Given the description of an element on the screen output the (x, y) to click on. 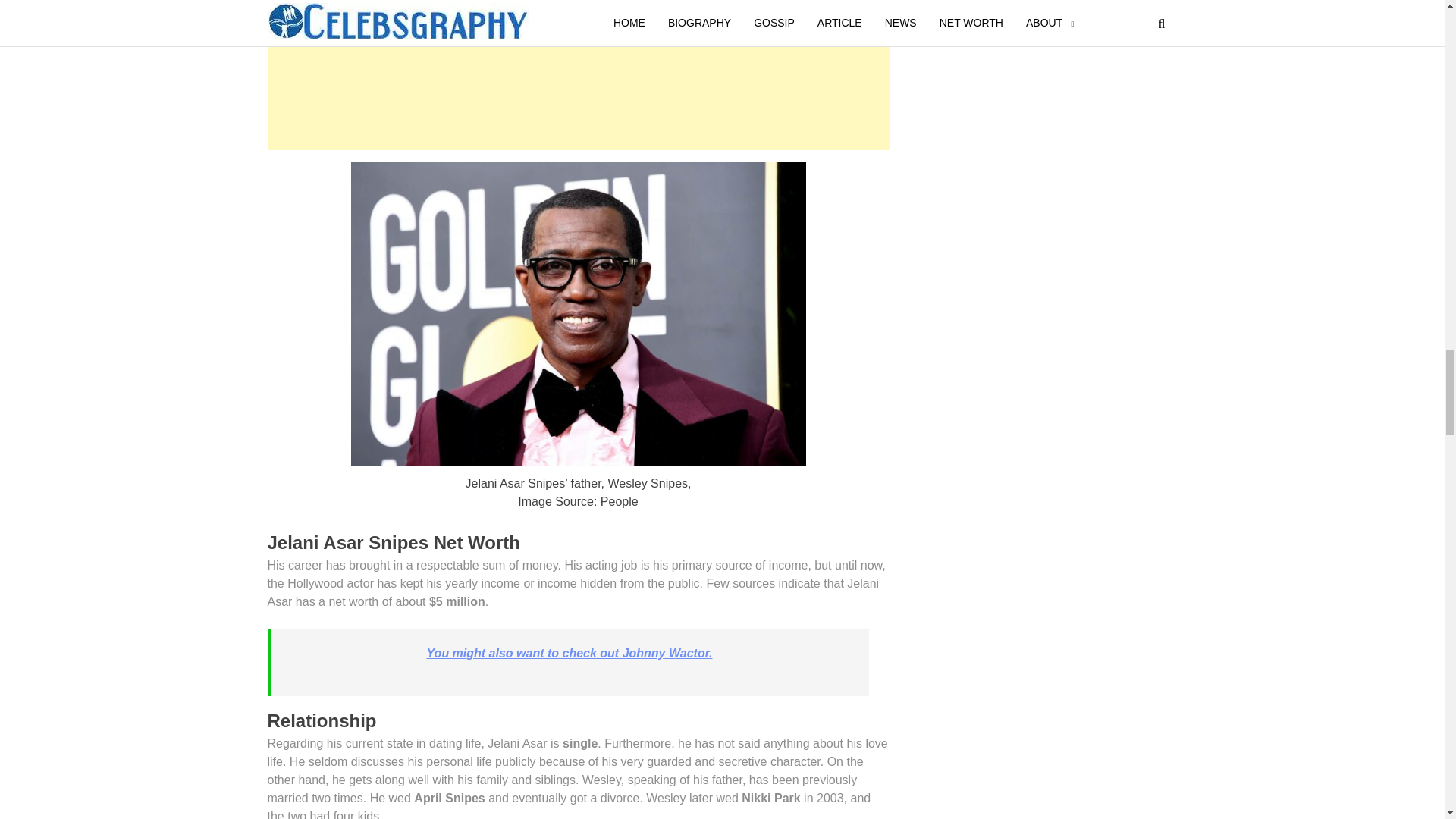
Advertisement (577, 79)
You might also want to check out Johnny Wactor. (569, 653)
